Given the description of an element on the screen output the (x, y) to click on. 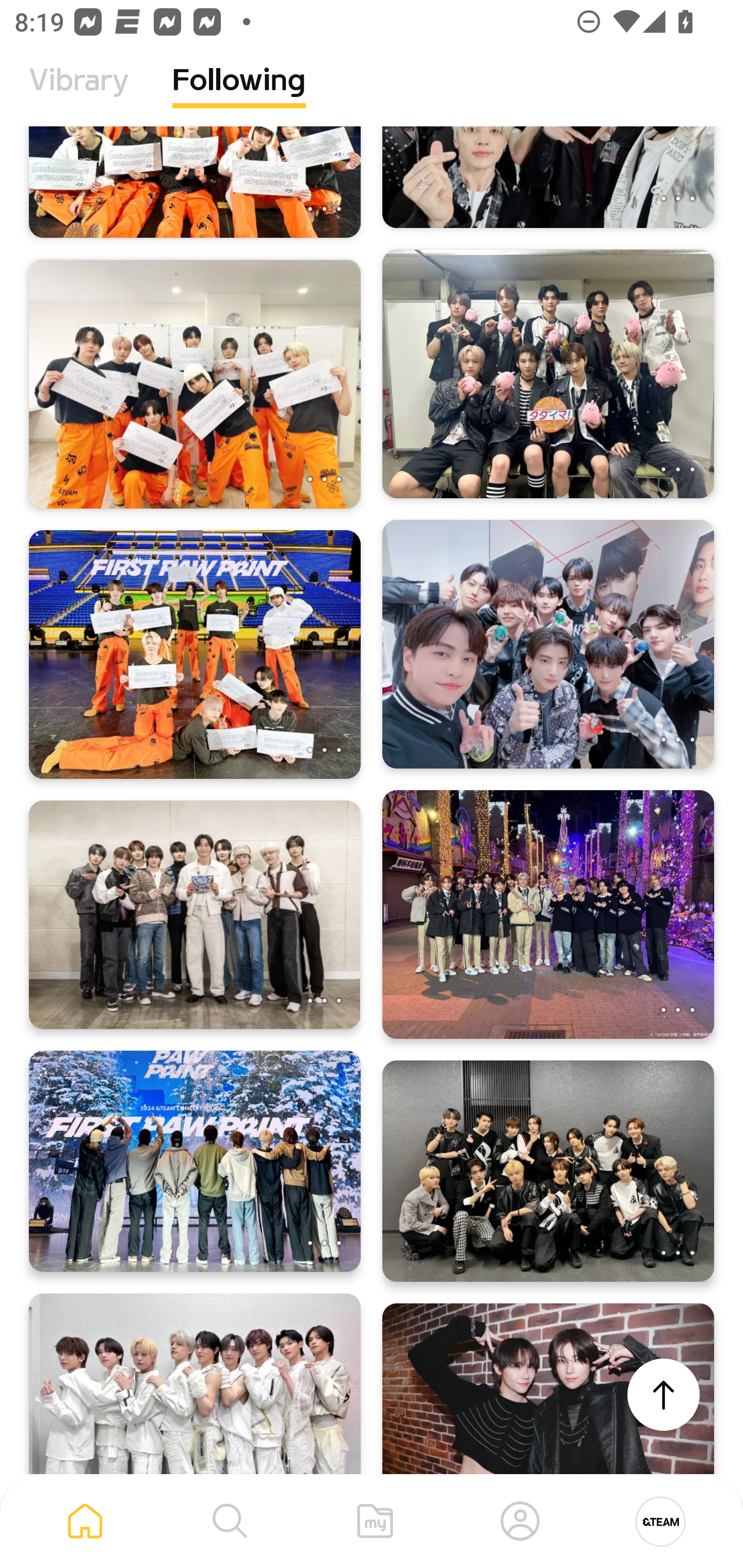
Vibrary (78, 95)
Following (239, 95)
